Given the description of an element on the screen output the (x, y) to click on. 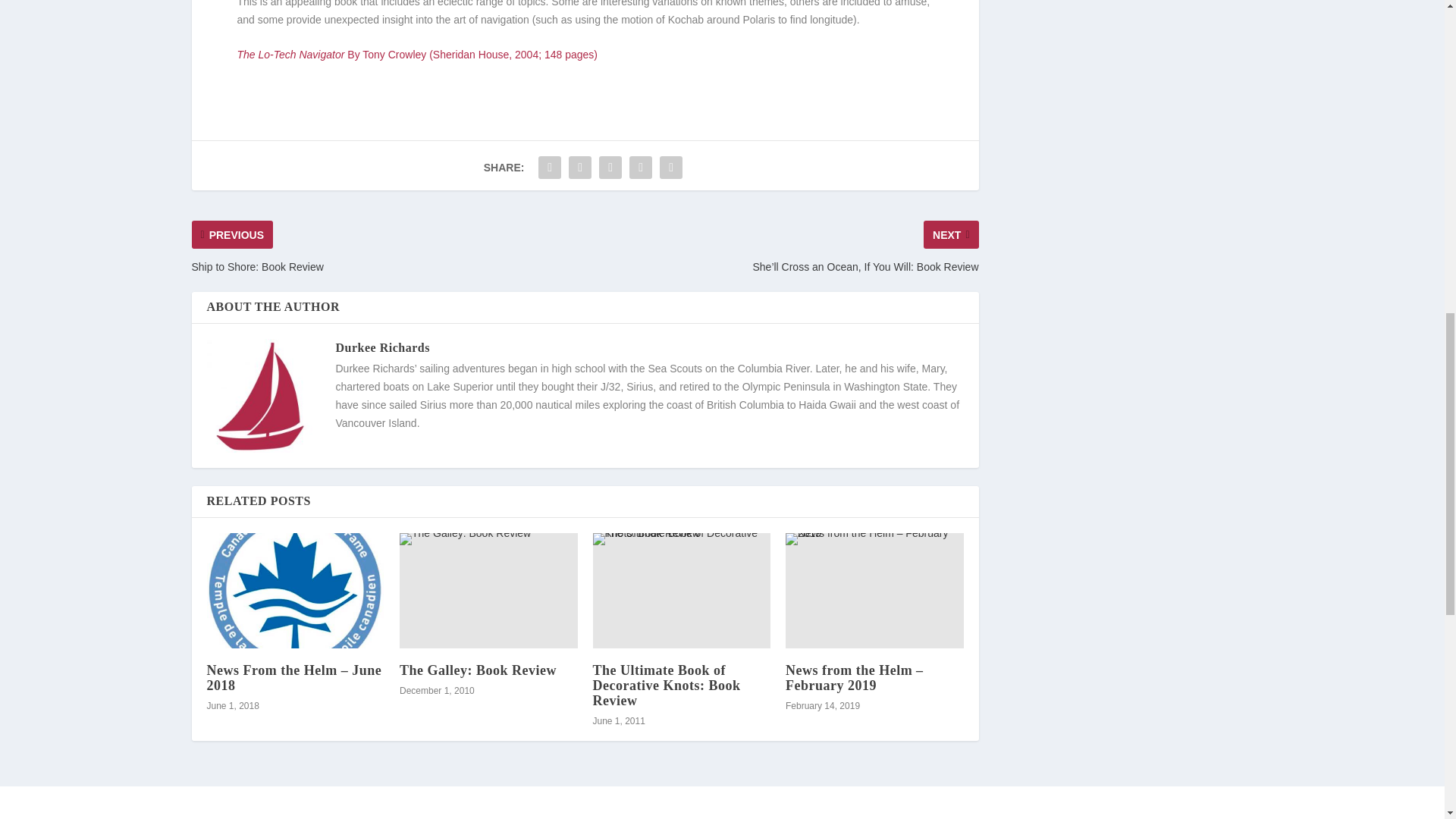
Share "The Lo-Tech Navigator: Book Review" via Facebook (549, 167)
View all posts by Durkee Richards (381, 347)
The Ultimate Book of Decorative Knots: Book Review (681, 590)
Share "The Lo-Tech Navigator: Book Review" via Email (641, 167)
Share "The Lo-Tech Navigator: Book Review" via Print (670, 167)
Durkee Richards (381, 347)
Share "The Lo-Tech Navigator: Book Review" via Pinterest (610, 167)
The Galley: Book Review (488, 590)
Share "The Lo-Tech Navigator: Book Review" via Twitter (579, 167)
The Galley: Book Review (477, 670)
